Given the description of an element on the screen output the (x, y) to click on. 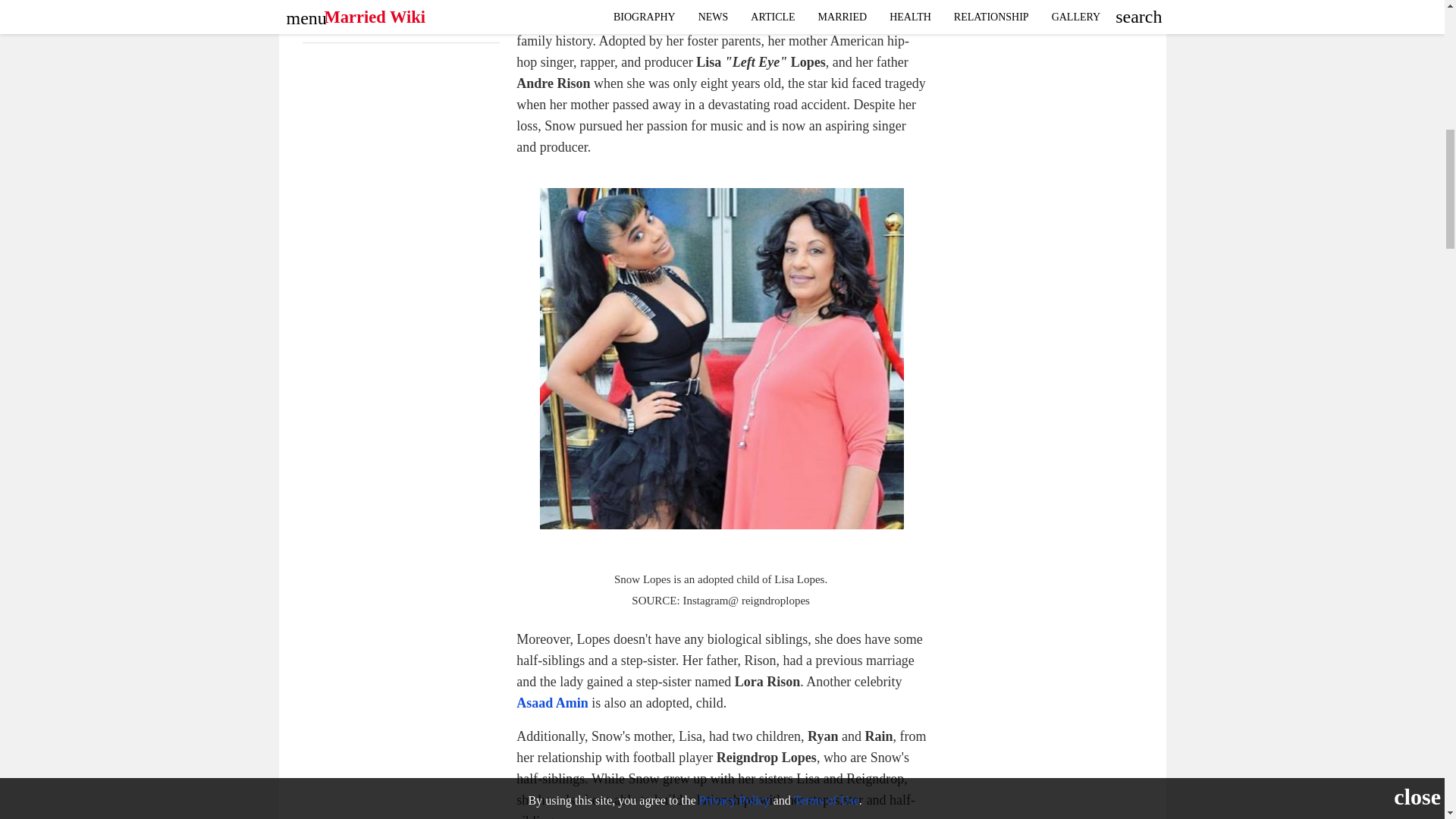
Asaad Amin (552, 702)
5 feet 5 inch (430, 26)
